Given the description of an element on the screen output the (x, y) to click on. 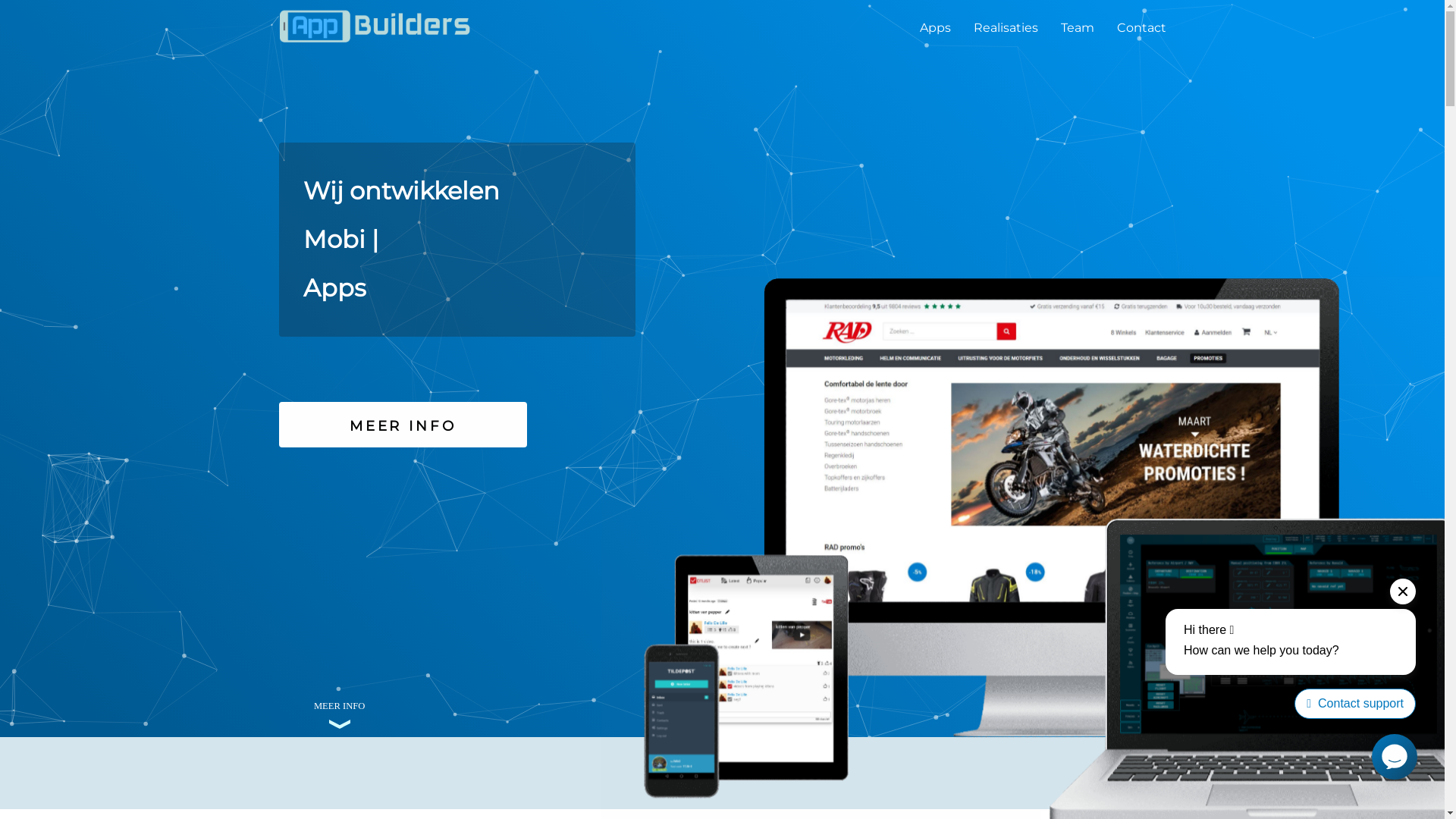
Contact Element type: text (1141, 21)
Team Element type: text (1077, 21)
Apps Element type: text (935, 21)
Realisaties Element type: text (1004, 21)
Chative chat widget Element type: hover (1284, 654)
MEER INFO Element type: text (403, 424)
